Given the description of an element on the screen output the (x, y) to click on. 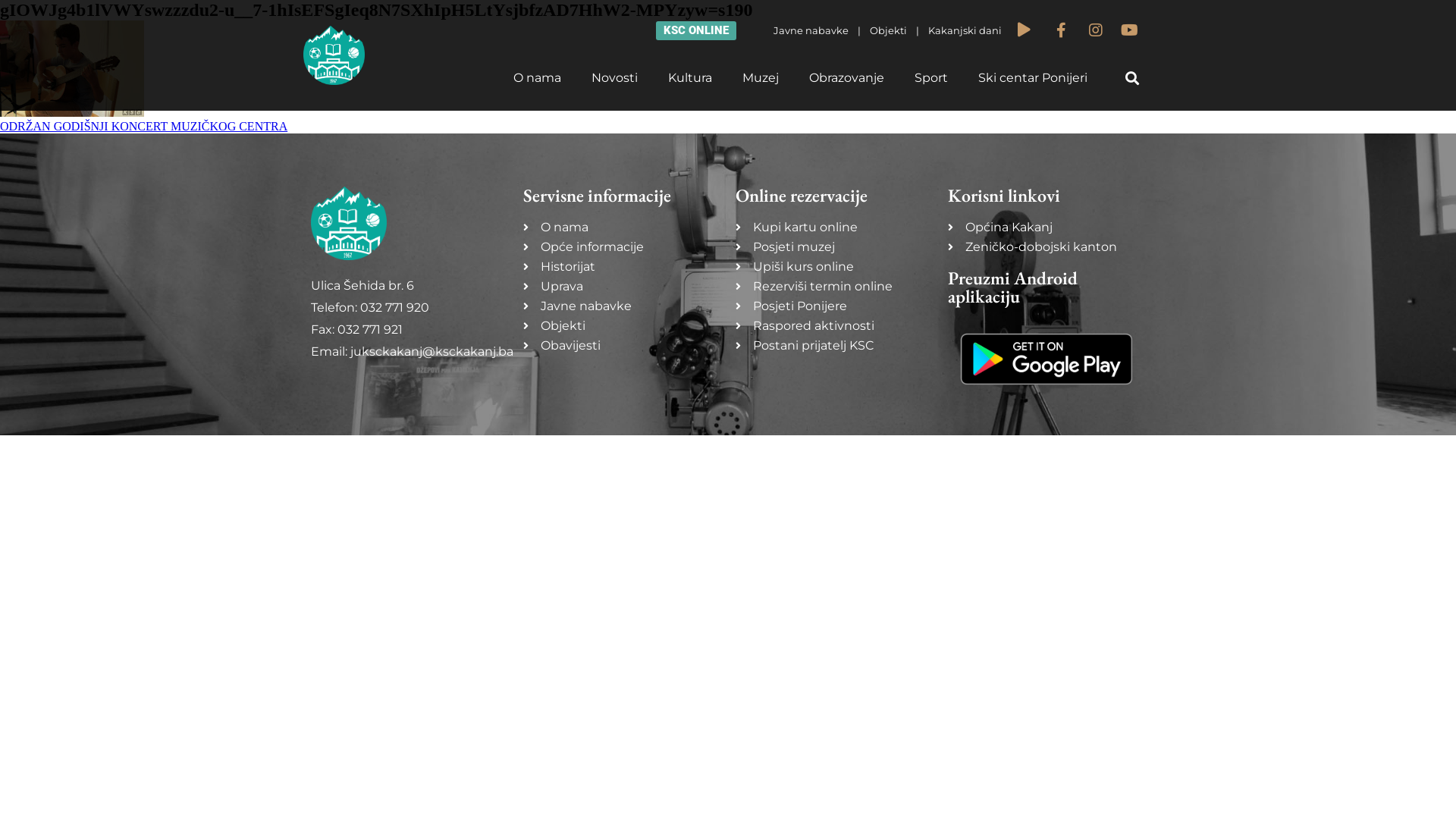
O nama Element type: text (537, 77)
Javne nabavke Element type: text (621, 305)
KSC ONLINE Element type: text (695, 30)
Ski centar Ponijeri Element type: text (1032, 77)
Novosti Element type: text (614, 77)
Obrazovanje Element type: text (846, 77)
Sport Element type: text (931, 77)
Uprava Element type: text (621, 286)
Muzej Element type: text (760, 77)
Historijat Element type: text (621, 266)
Objekti  Element type: text (888, 30)
O nama Element type: text (621, 226)
Kupi kartu online Element type: text (833, 226)
Objekti Element type: text (621, 325)
Posjeti Ponijere Element type: text (833, 305)
Kakanjski dani Element type: text (964, 30)
Raspored aktivnosti Element type: text (833, 325)
Posjeti muzej Element type: text (833, 246)
Obavijesti Element type: text (621, 345)
Kultura Element type: text (689, 77)
Postani prijatelj KSC Element type: text (833, 345)
Javne nabavke  Element type: text (811, 30)
